Given the description of an element on the screen output the (x, y) to click on. 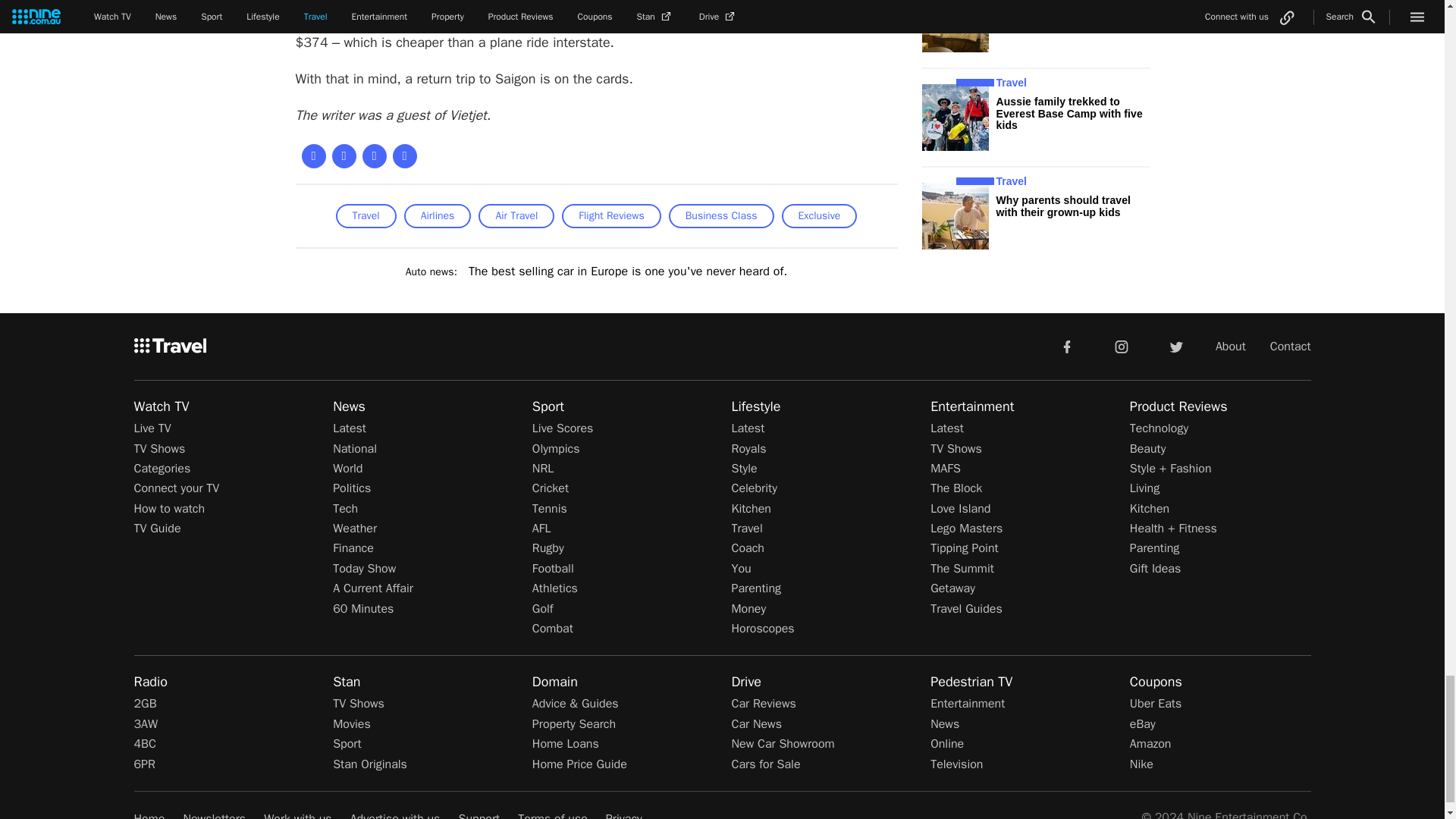
facebook (1066, 345)
instagram (1121, 345)
twitter (1175, 345)
